Given the description of an element on the screen output the (x, y) to click on. 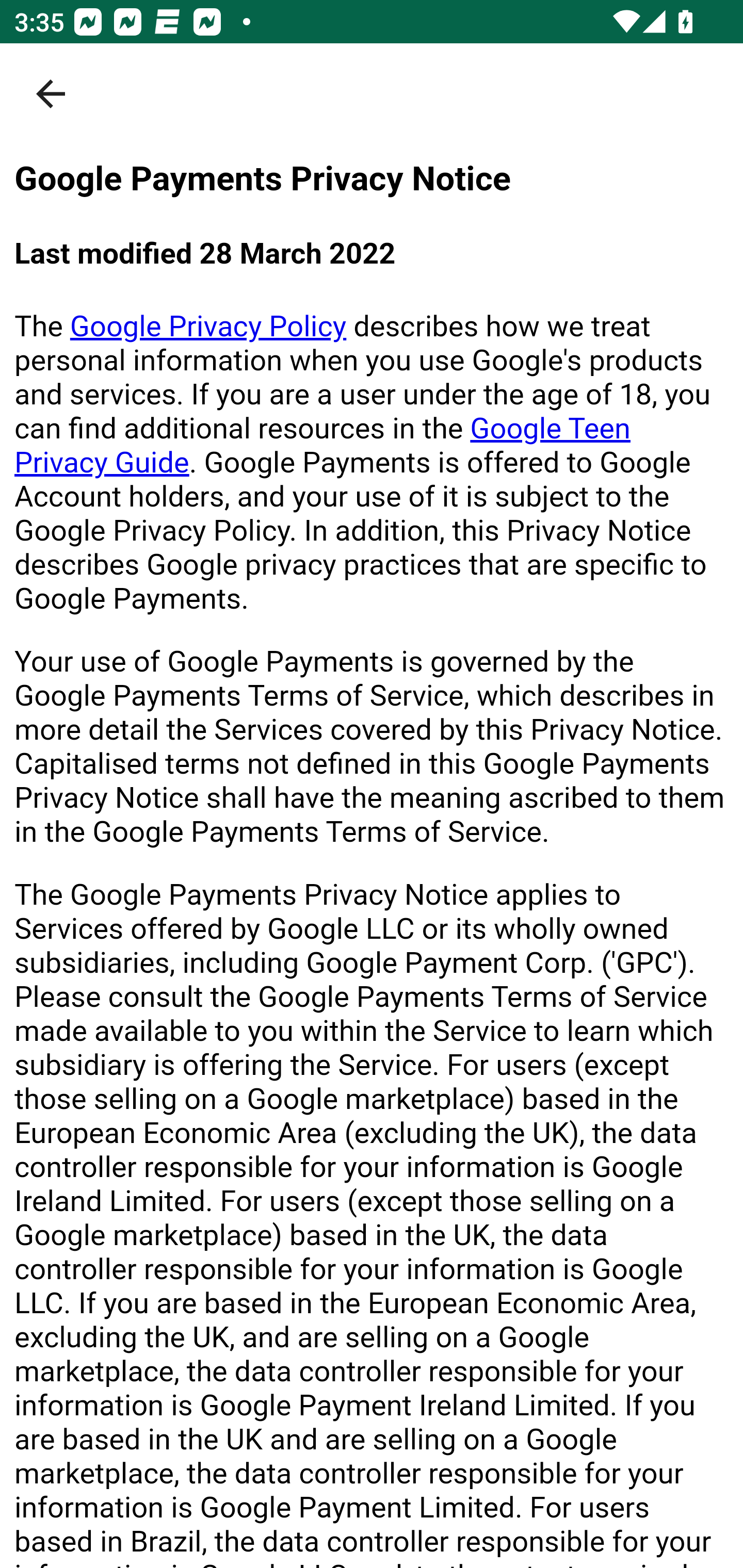
Navigate up (50, 93)
Google Privacy Policy (208, 326)
Google Teen Privacy Guide (323, 444)
